Given the description of an element on the screen output the (x, y) to click on. 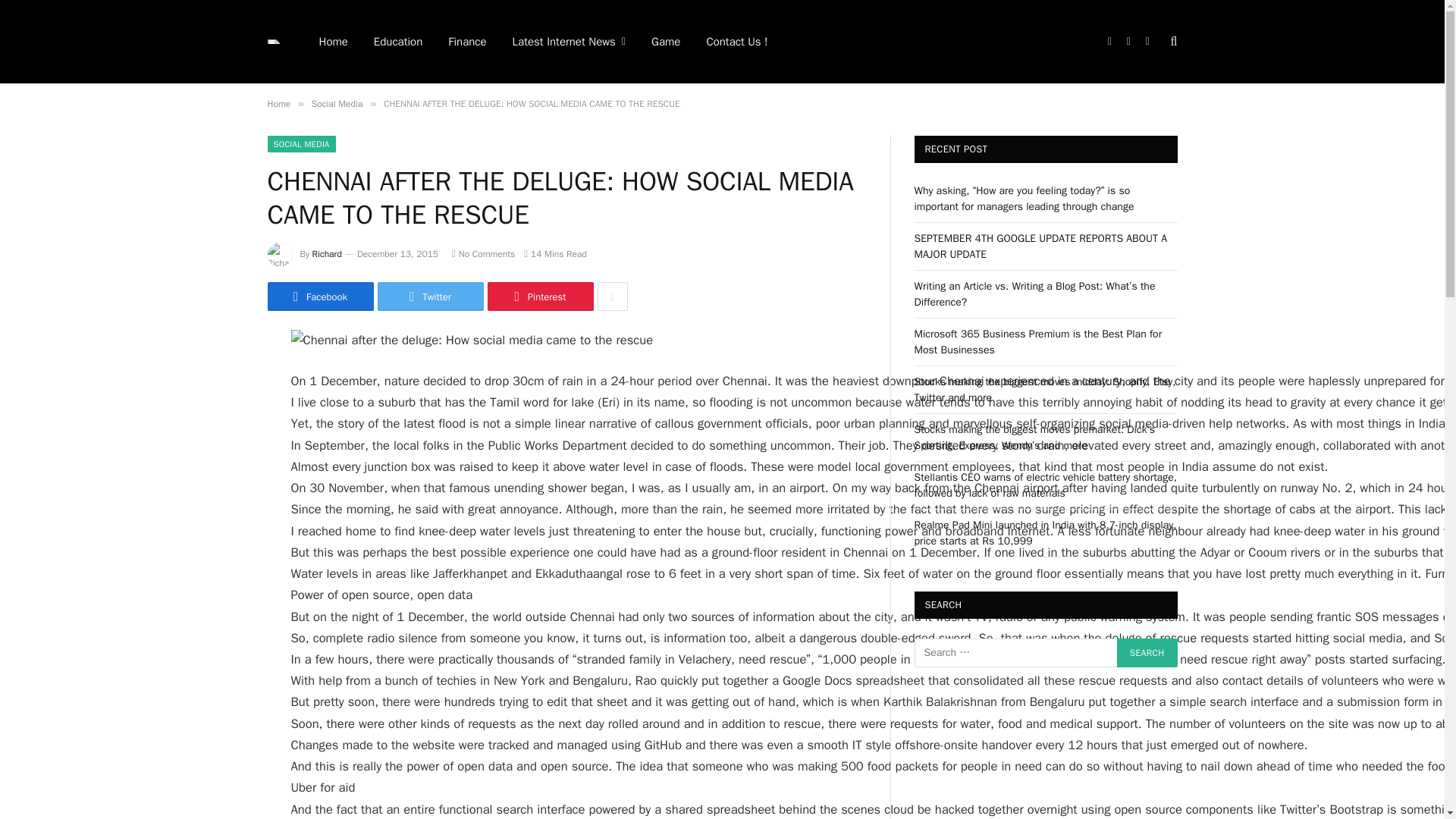
Share on Pinterest (539, 296)
Home (277, 103)
Social Media (336, 103)
Share on Facebook (319, 296)
Contact Us ! (736, 41)
SOCIAL MEDIA (300, 143)
Richard (327, 254)
Posts by Richard (327, 254)
Search (1146, 652)
Show More Social Sharing (611, 296)
Education (398, 41)
Latest Internet News (569, 41)
No Comments (483, 254)
Pinterest (539, 296)
Facebook (319, 296)
